Given the description of an element on the screen output the (x, y) to click on. 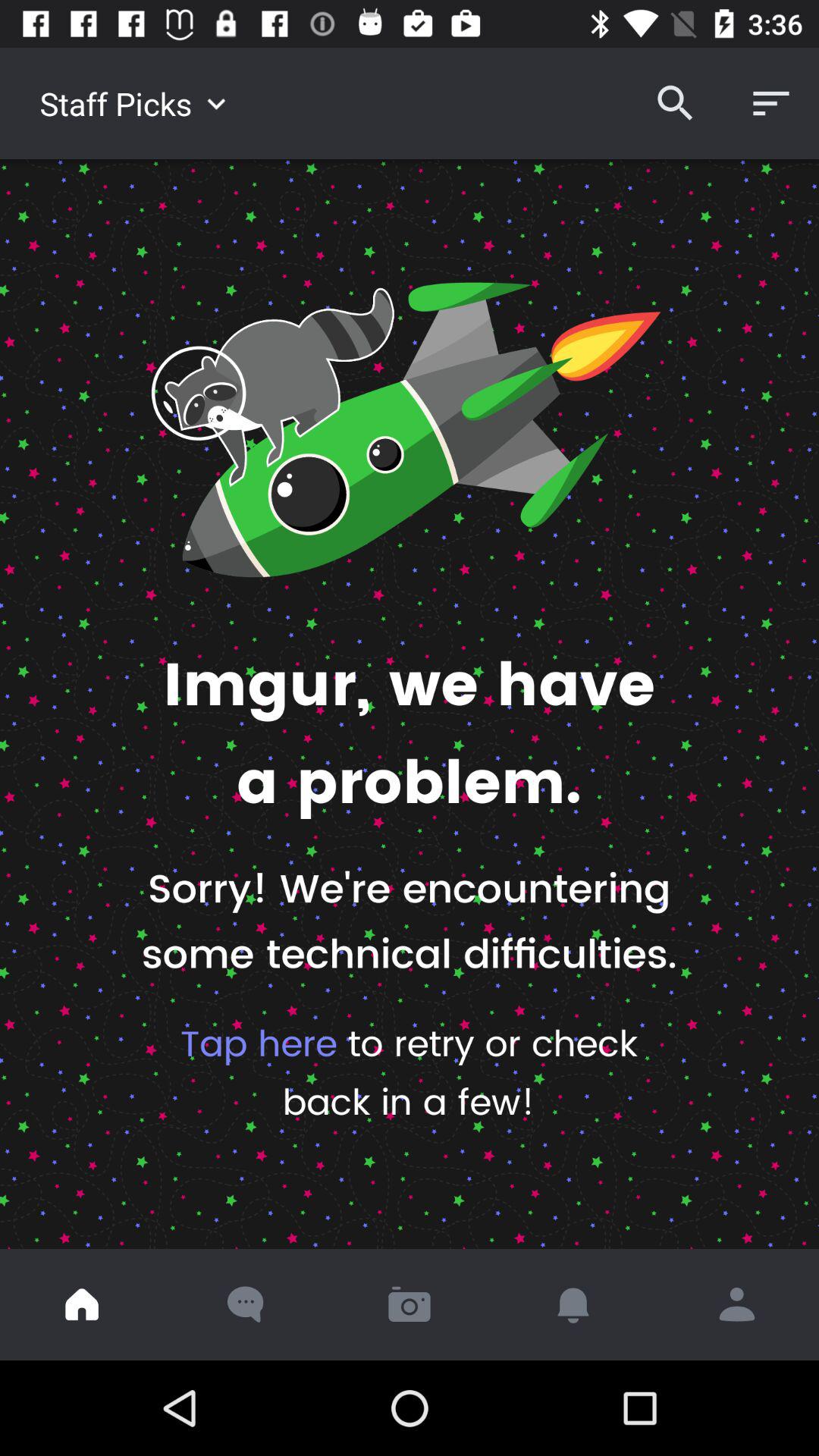
select item to the right of staff picks (675, 103)
